Given the description of an element on the screen output the (x, y) to click on. 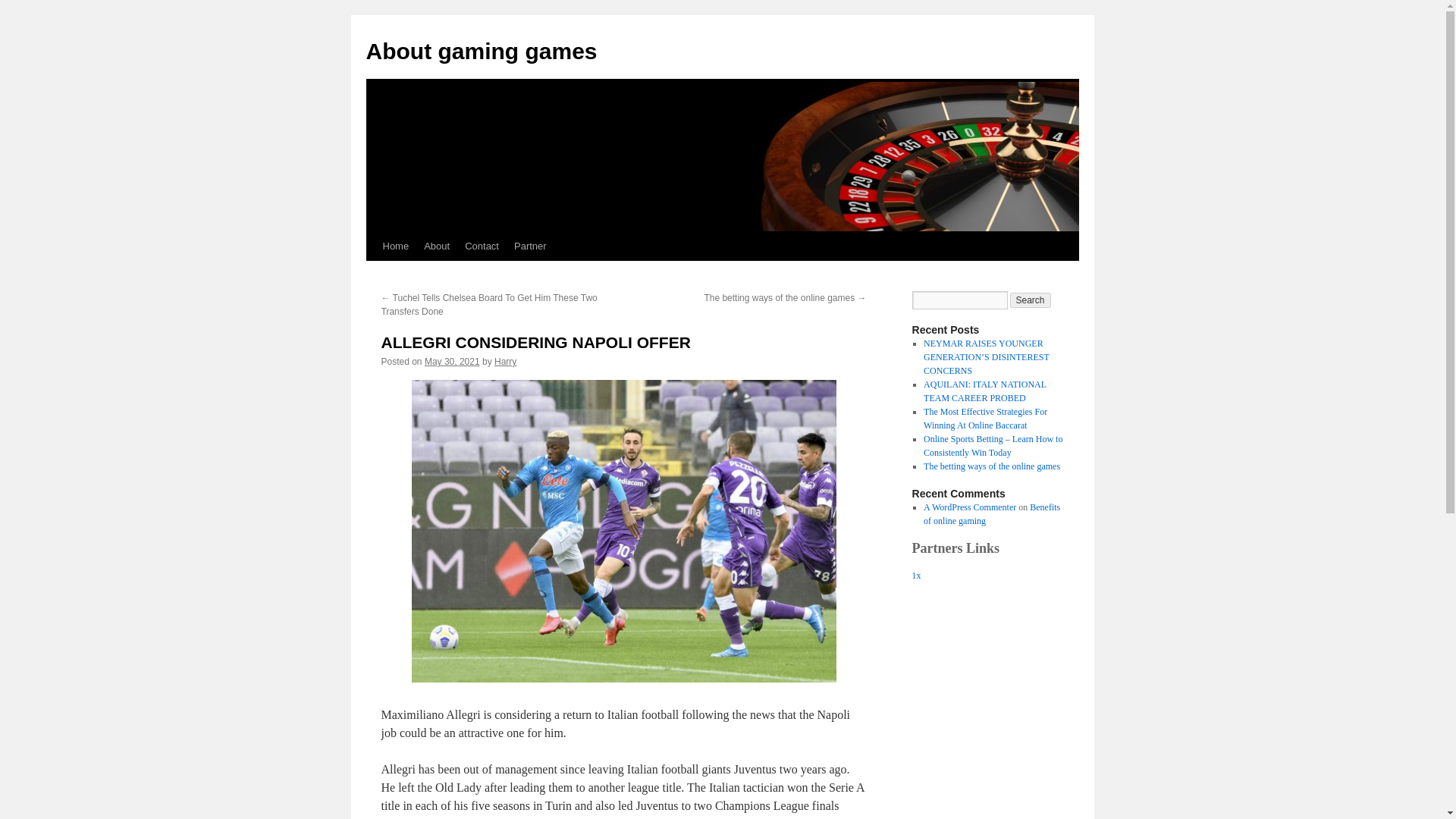
May 30, 2021 (452, 361)
About (436, 246)
The betting ways of the online games (991, 466)
About gaming games (480, 50)
Home (395, 246)
Search (1030, 299)
Contact (481, 246)
Partner (530, 246)
View all posts by Harry (505, 361)
4:44 pm (452, 361)
